Given the description of an element on the screen output the (x, y) to click on. 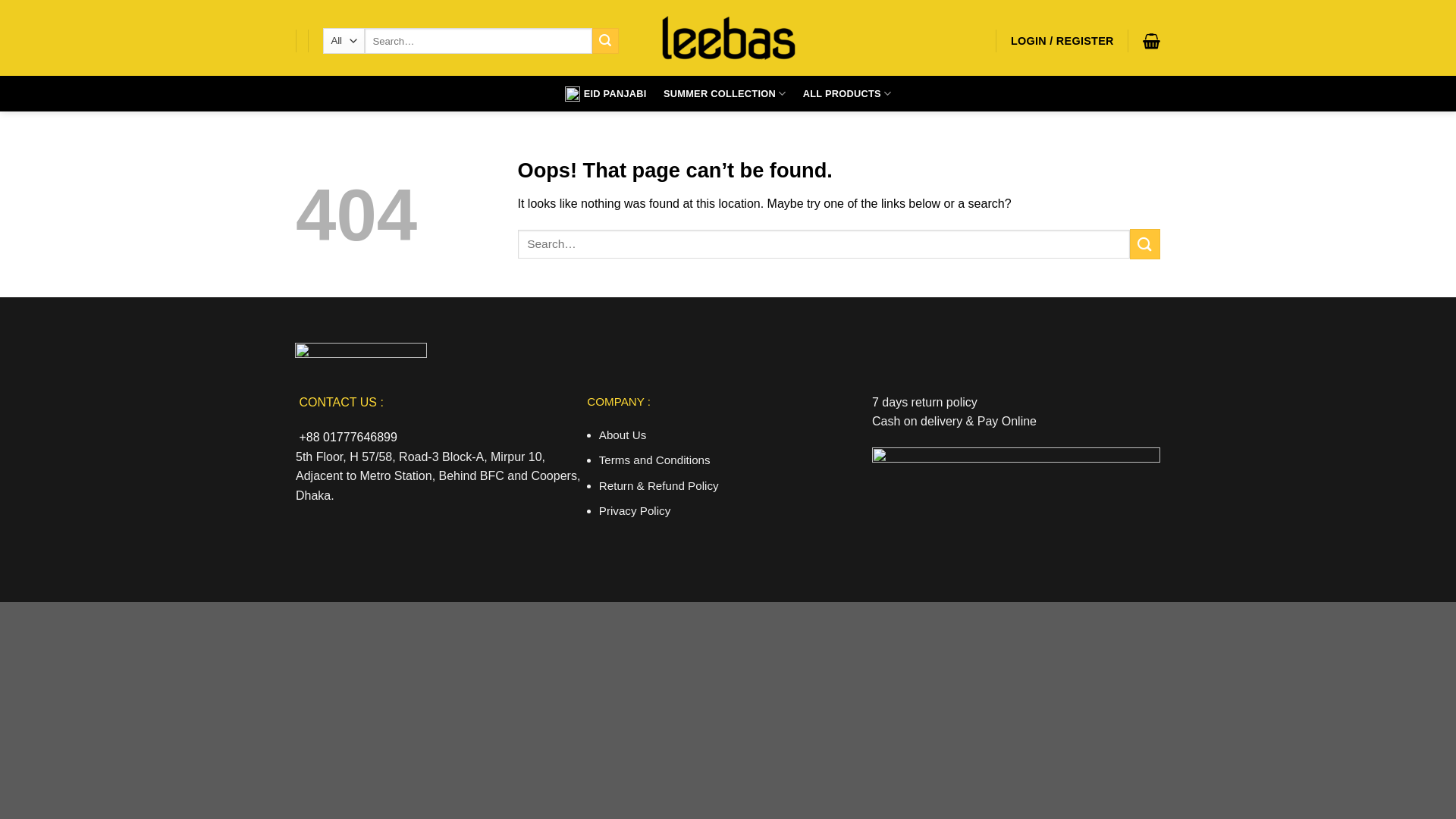
Cart Element type: hover (1151, 40)
Online Shopping for Men at Leebas Element type: hover (727, 37)
SUMMER COLLECTION Element type: text (724, 93)
ALL PRODUCTS Element type: text (847, 93)
Privacy Policy Element type: text (635, 510)
Return & Refund Policy Element type: text (658, 485)
About Us Element type: text (622, 434)
Search Element type: text (605, 40)
Terms and Conditions Element type: text (654, 459)
LOGIN / REGISTER Element type: text (1061, 41)
EID PANJABI Element type: text (605, 93)
